Given the description of an element on the screen output the (x, y) to click on. 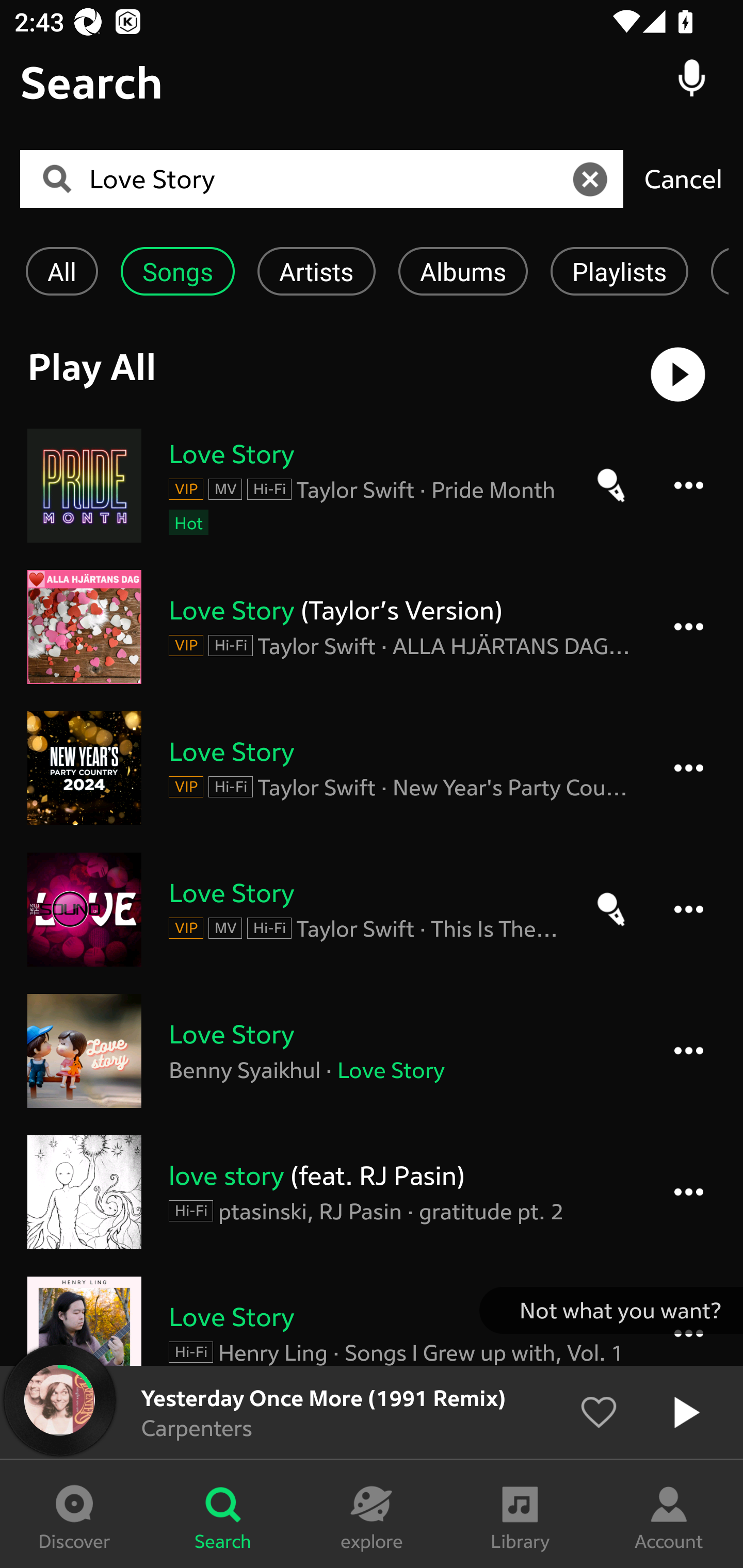
Cancel (683, 178)
Love Story (327, 179)
All (61, 271)
Artists (316, 271)
Albums (463, 271)
Playlists (619, 271)
Play All (371, 374)
Love Story Benny Syaikhul · Love Story (371, 1051)
Yesterday Once More (1991 Remix) Carpenters (371, 1412)
Discover (74, 1513)
explore (371, 1513)
Library (519, 1513)
Account (668, 1513)
